Given the description of an element on the screen output the (x, y) to click on. 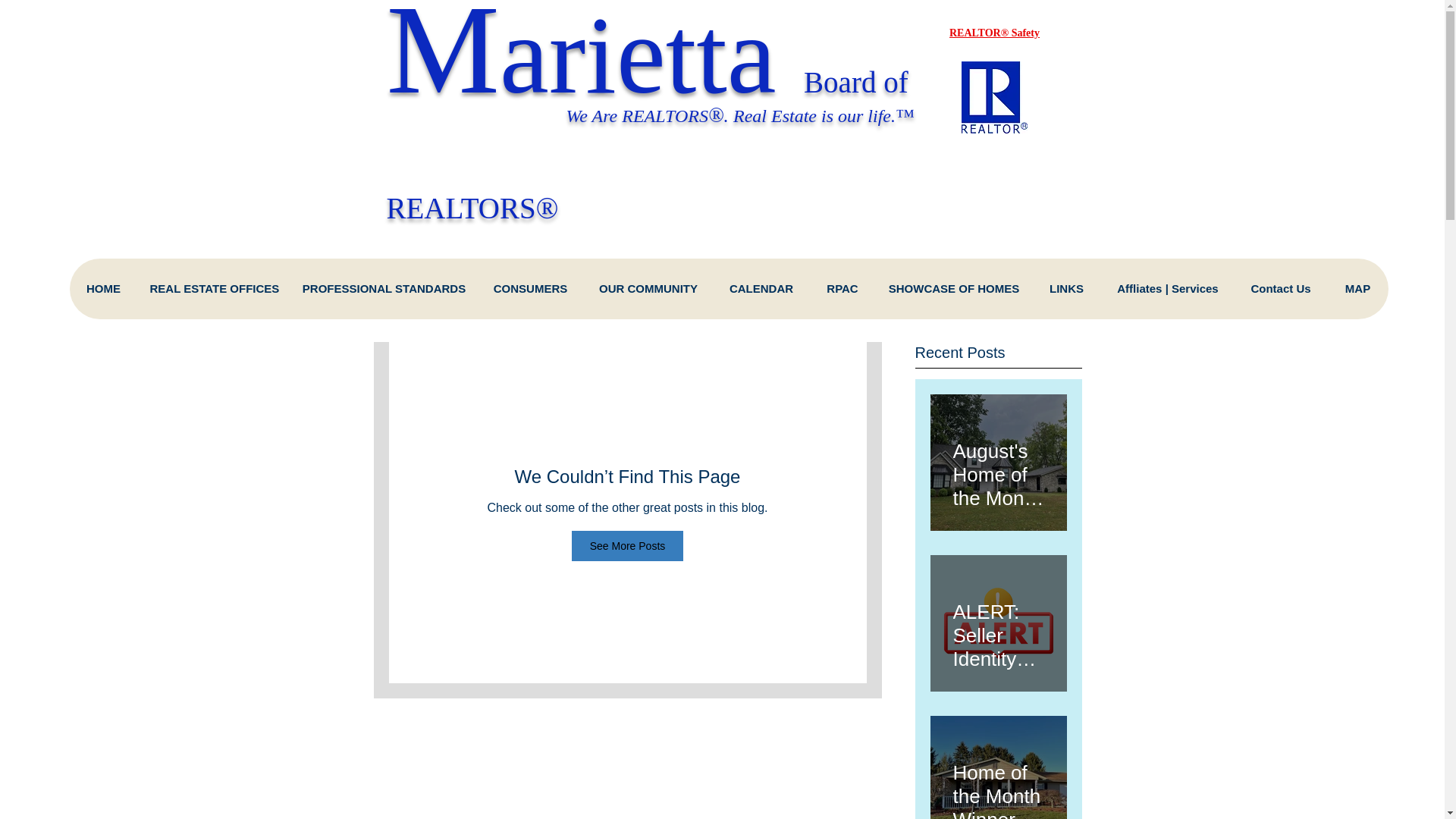
M (443, 59)
August's Home of the Month Award Winner is..... (997, 467)
See More Posts (628, 545)
arietta (651, 58)
ALERT: Seller Identity Fraud (997, 628)
Home of the Month Winner is.... (997, 783)
